Given the description of an element on the screen output the (x, y) to click on. 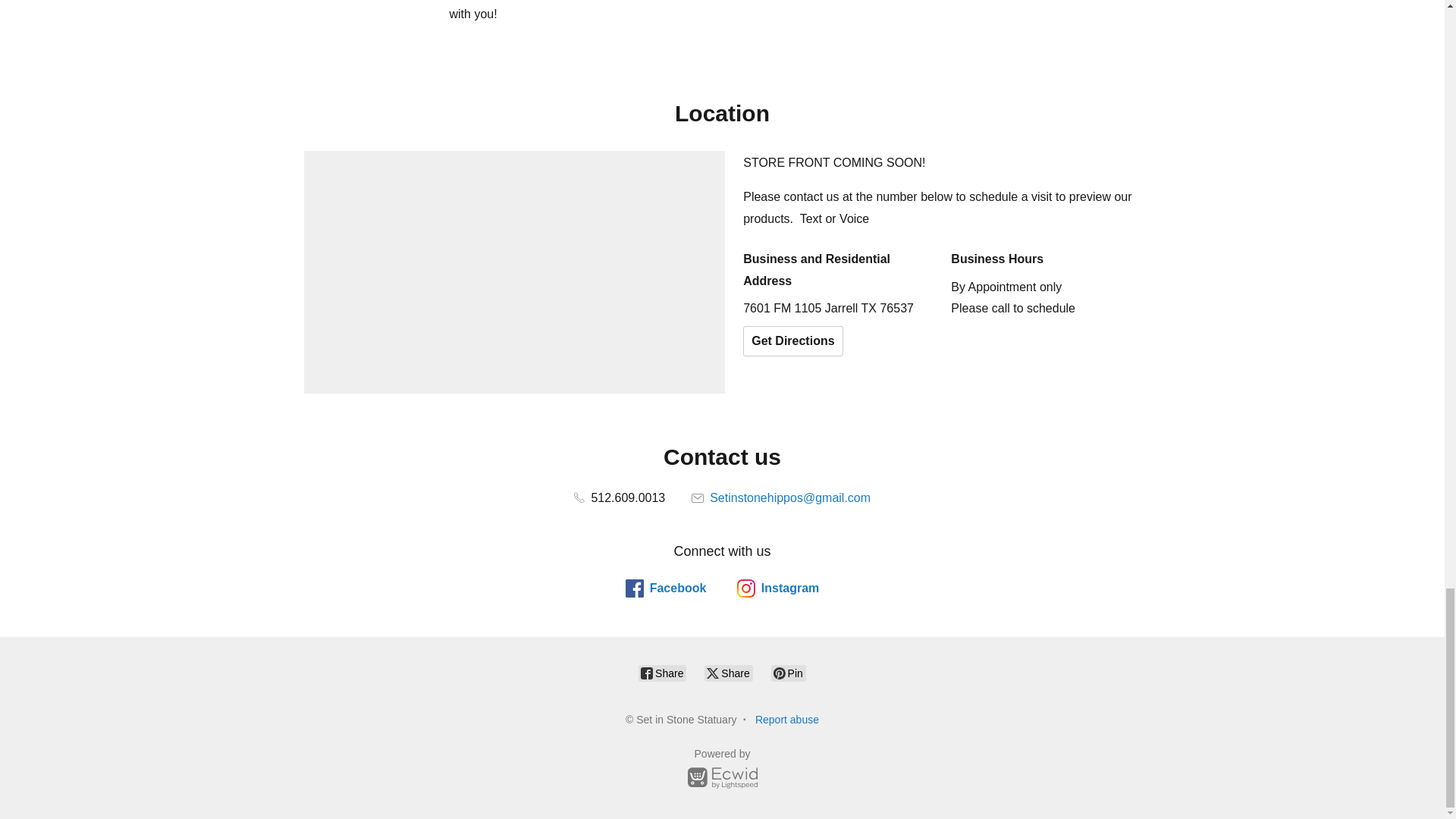
Pin (788, 673)
Location on map (513, 271)
Share (728, 673)
Share (662, 673)
Get Directions (792, 340)
512.609.0013 (619, 497)
Powered by (722, 770)
Report abuse (786, 719)
Facebook (666, 588)
Instagram (777, 588)
